Given the description of an element on the screen output the (x, y) to click on. 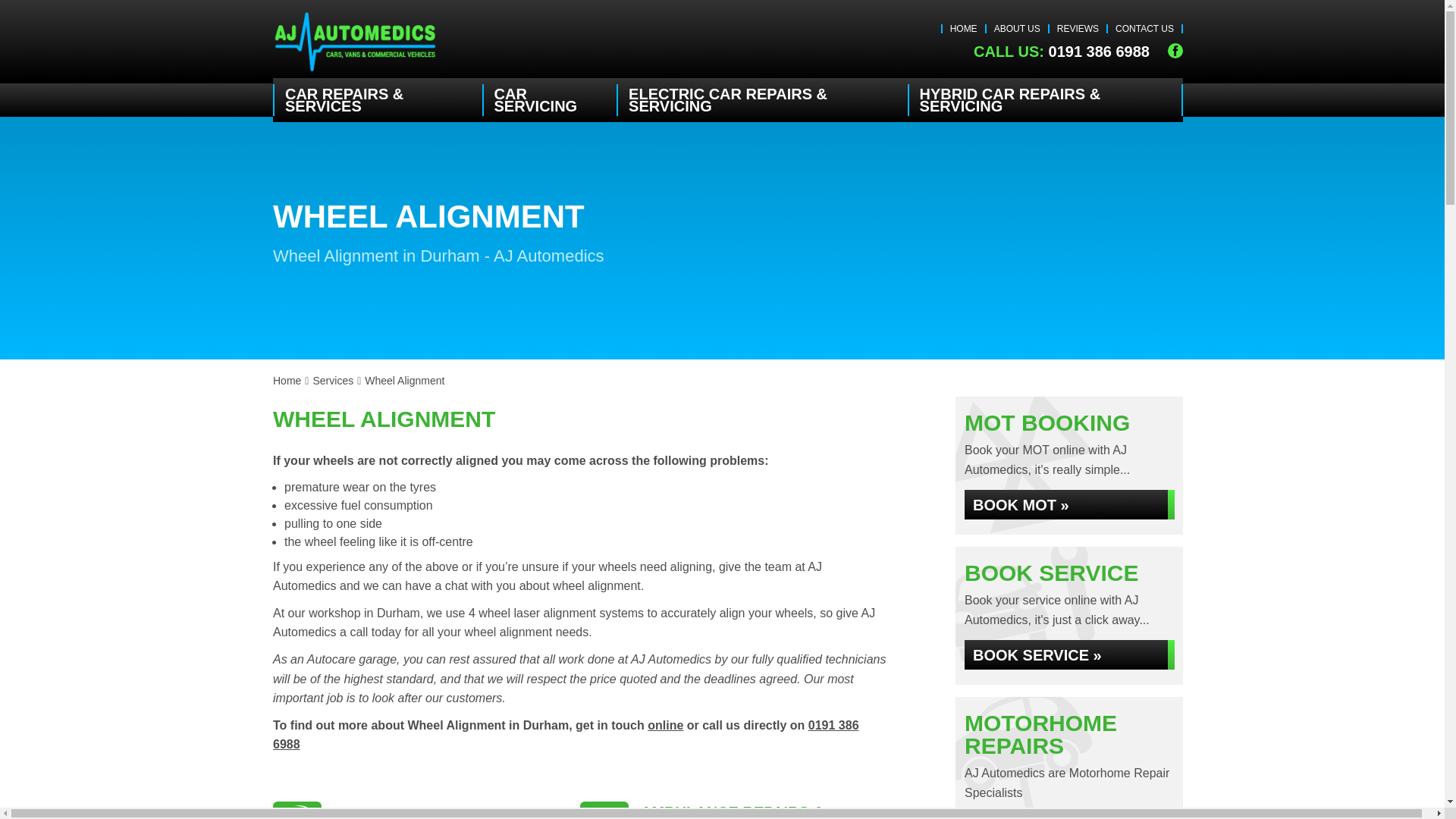
CONTACT US (1144, 28)
HOME (963, 28)
REVIEWS (1078, 28)
CALL US: 0191 386 6988 (1062, 51)
ABOUT US (1017, 28)
